Given the description of an element on the screen output the (x, y) to click on. 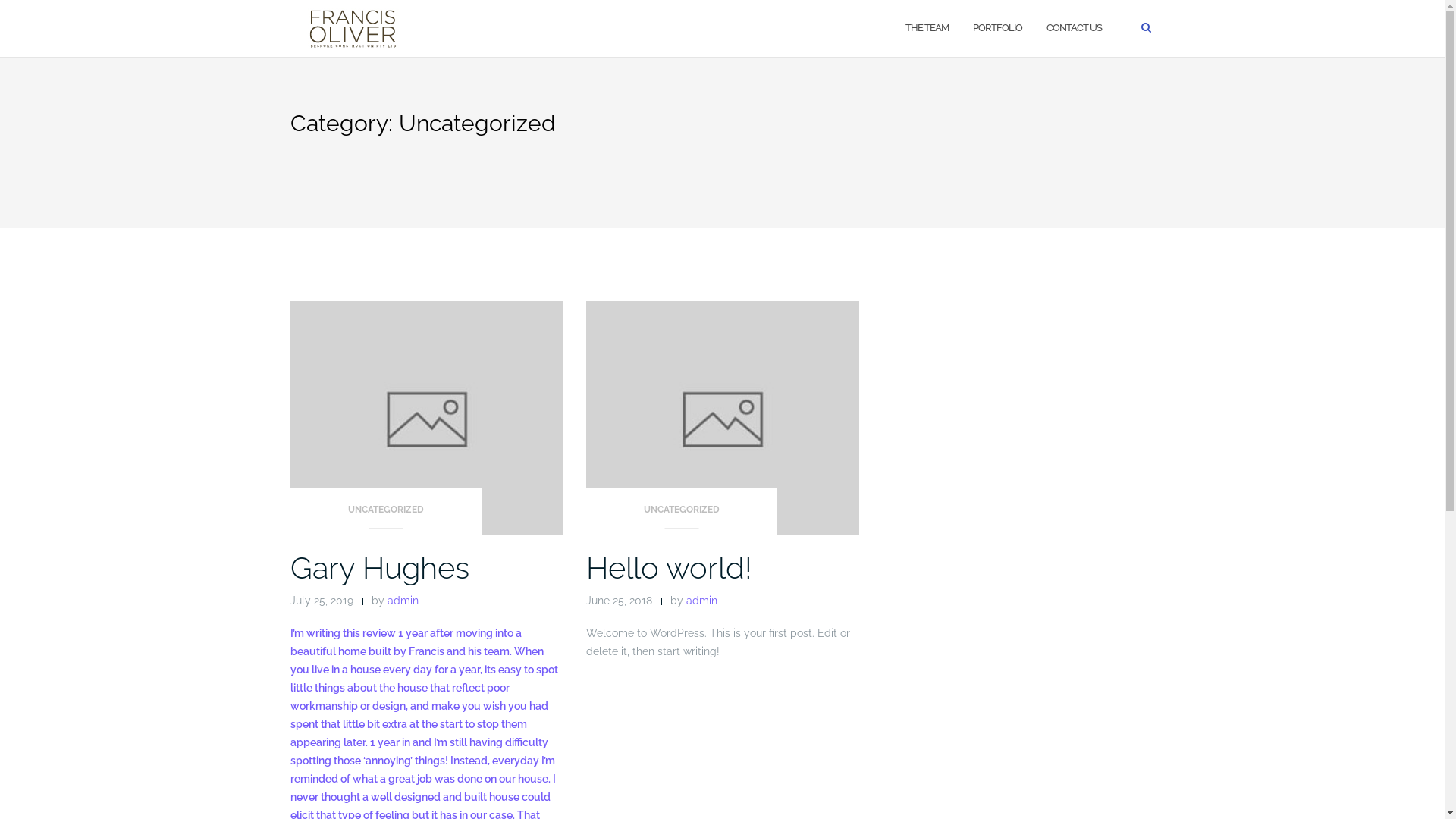
THE TEAM Element type: text (926, 28)
UNCATEGORIZED Element type: text (384, 514)
PORTFOLIO Element type: text (996, 28)
admin Element type: text (401, 600)
CONTACT US Element type: text (1073, 28)
Gary Hughes Element type: text (378, 567)
admin Element type: text (700, 600)
UNCATEGORIZED Element type: text (680, 514)
Hello world! Element type: text (668, 567)
